Given the description of an element on the screen output the (x, y) to click on. 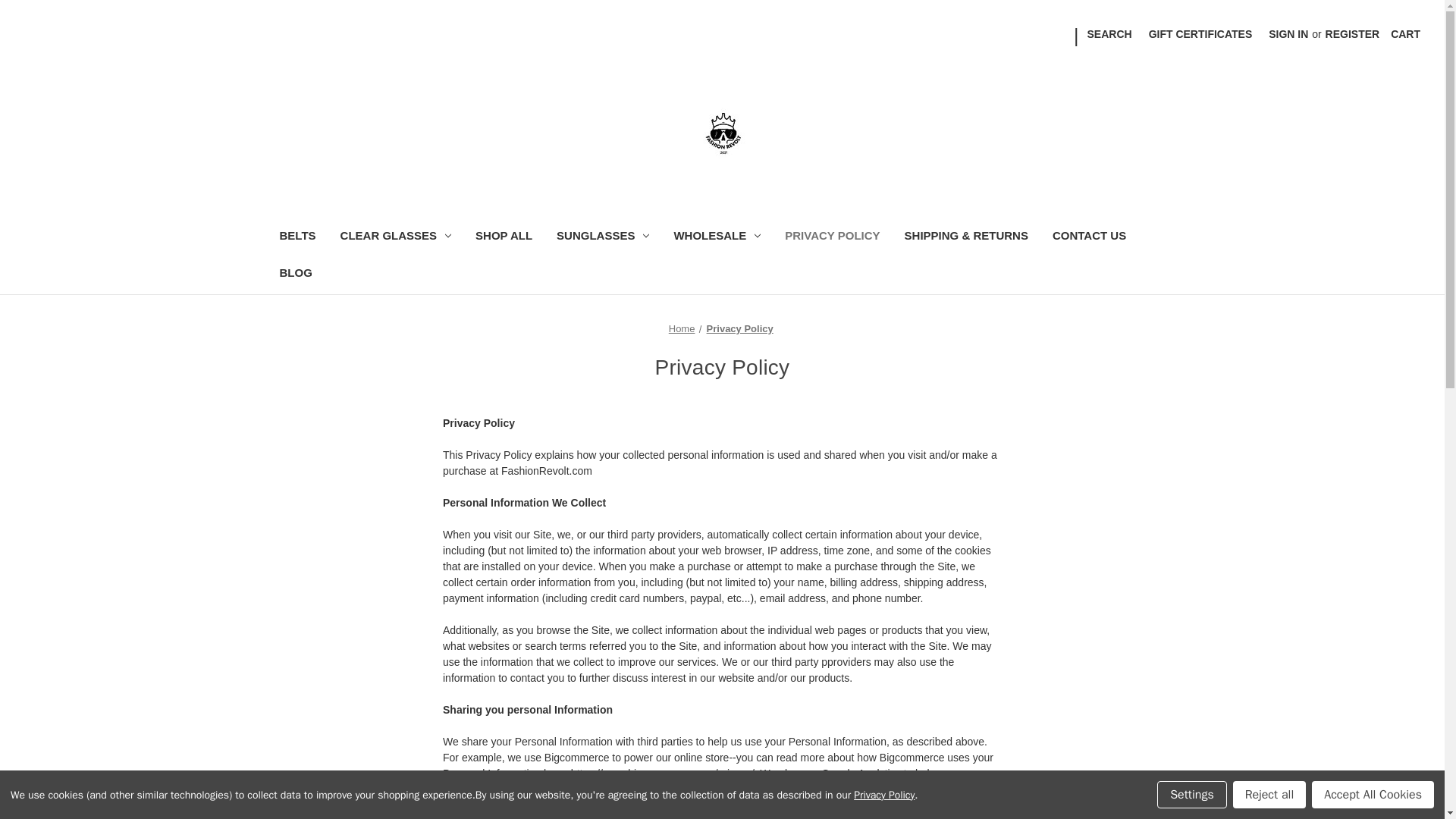
CART (1404, 34)
Fashion Revolt (722, 133)
GIFT CERTIFICATES (1200, 34)
SEARCH (1109, 34)
CLEAR GLASSES (396, 237)
SUNGLASSES (602, 237)
BELTS (296, 237)
SHOP ALL (503, 237)
REGISTER (1353, 34)
SIGN IN (1288, 34)
